Given the description of an element on the screen output the (x, y) to click on. 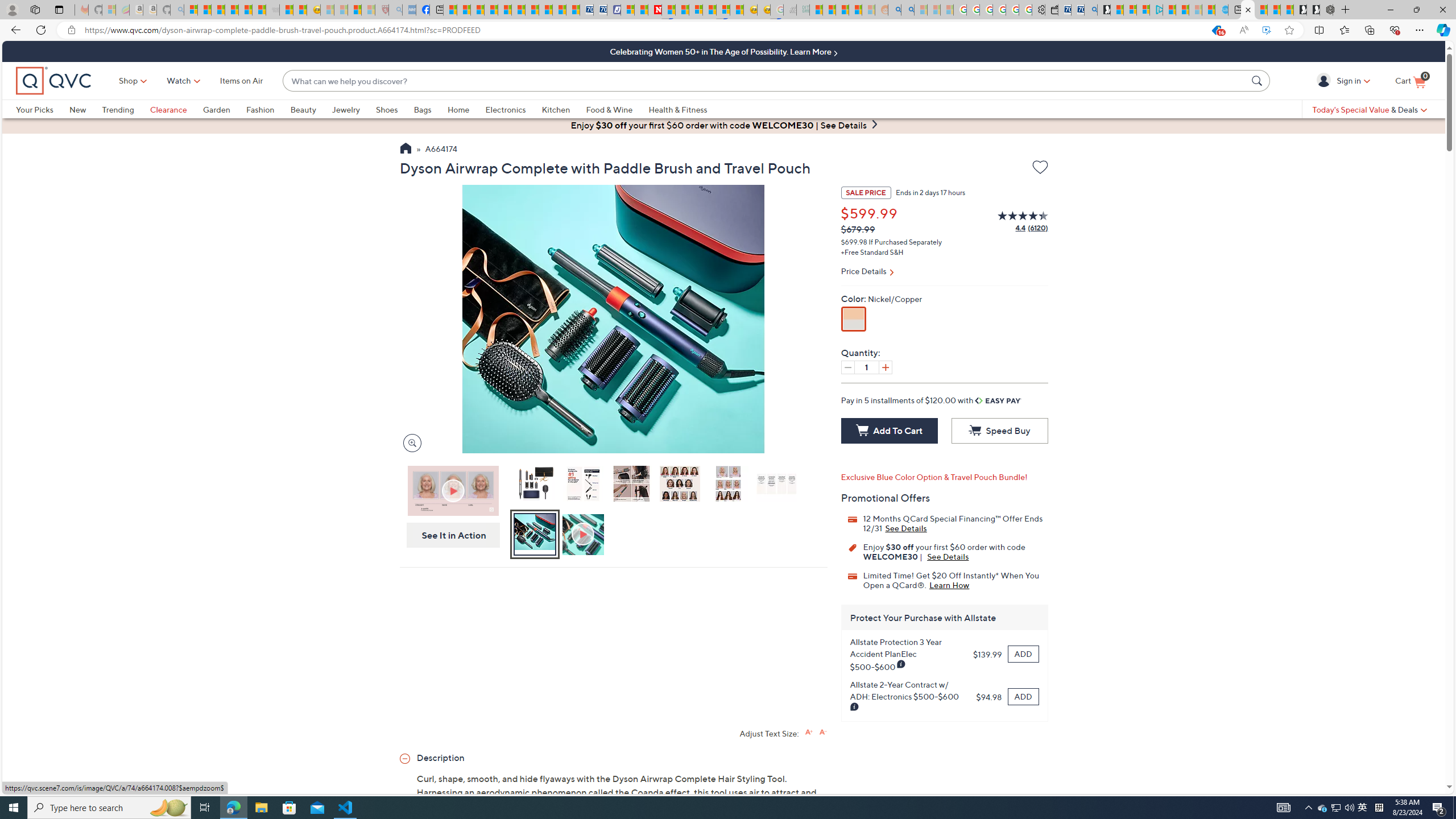
Beauty (310, 109)
Trending (125, 109)
Magnify Image (411, 442)
Add to Wish List (1040, 167)
Speed Buy (999, 430)
12 Popular Science Lies that Must be Corrected - Sleeping (368, 9)
Microsoft Start - Sleeping (1195, 9)
